Given the description of an element on the screen output the (x, y) to click on. 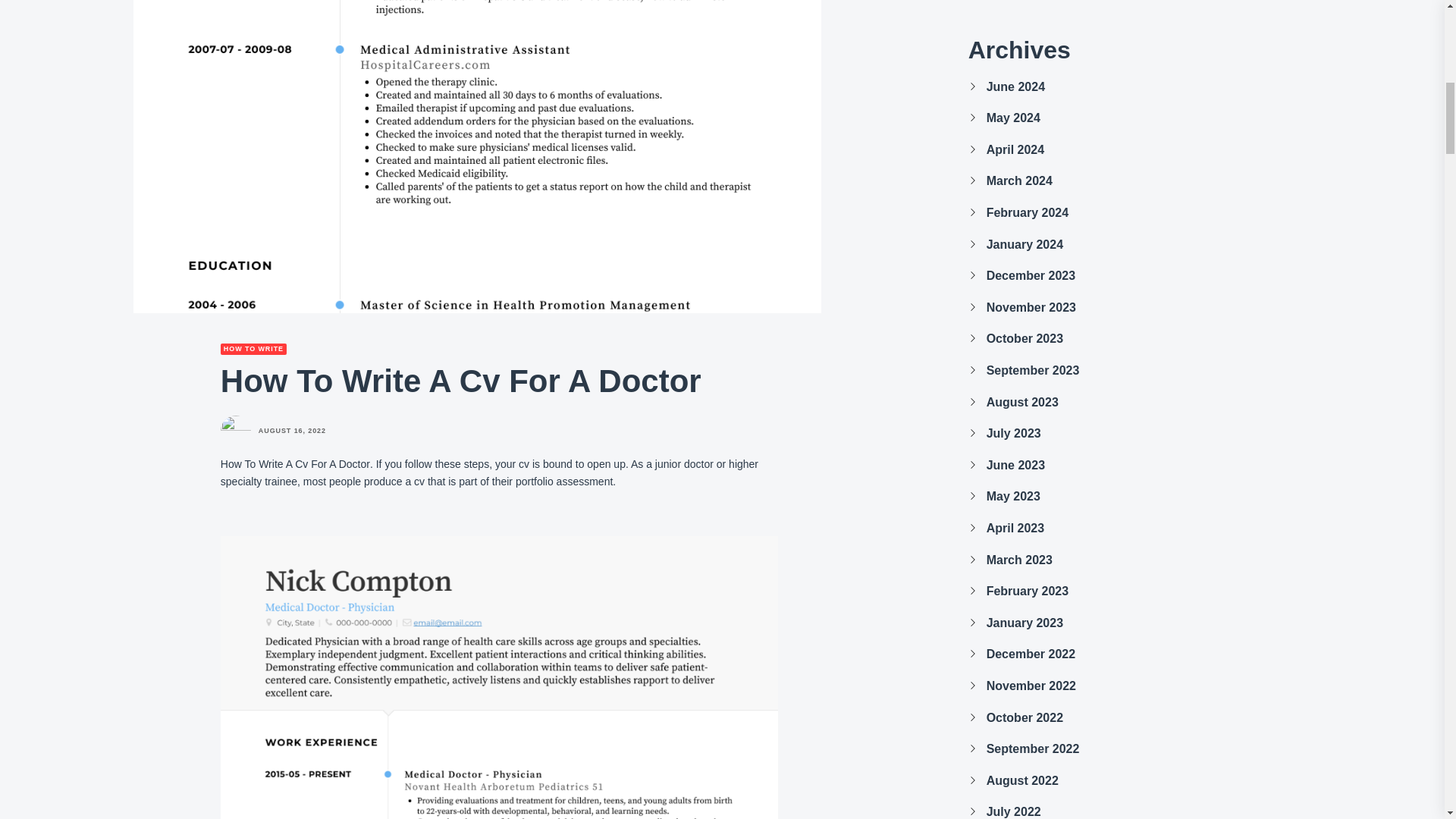
HOW TO WRITE (253, 348)
AUGUST 16, 2022 (292, 430)
